Given the description of an element on the screen output the (x, y) to click on. 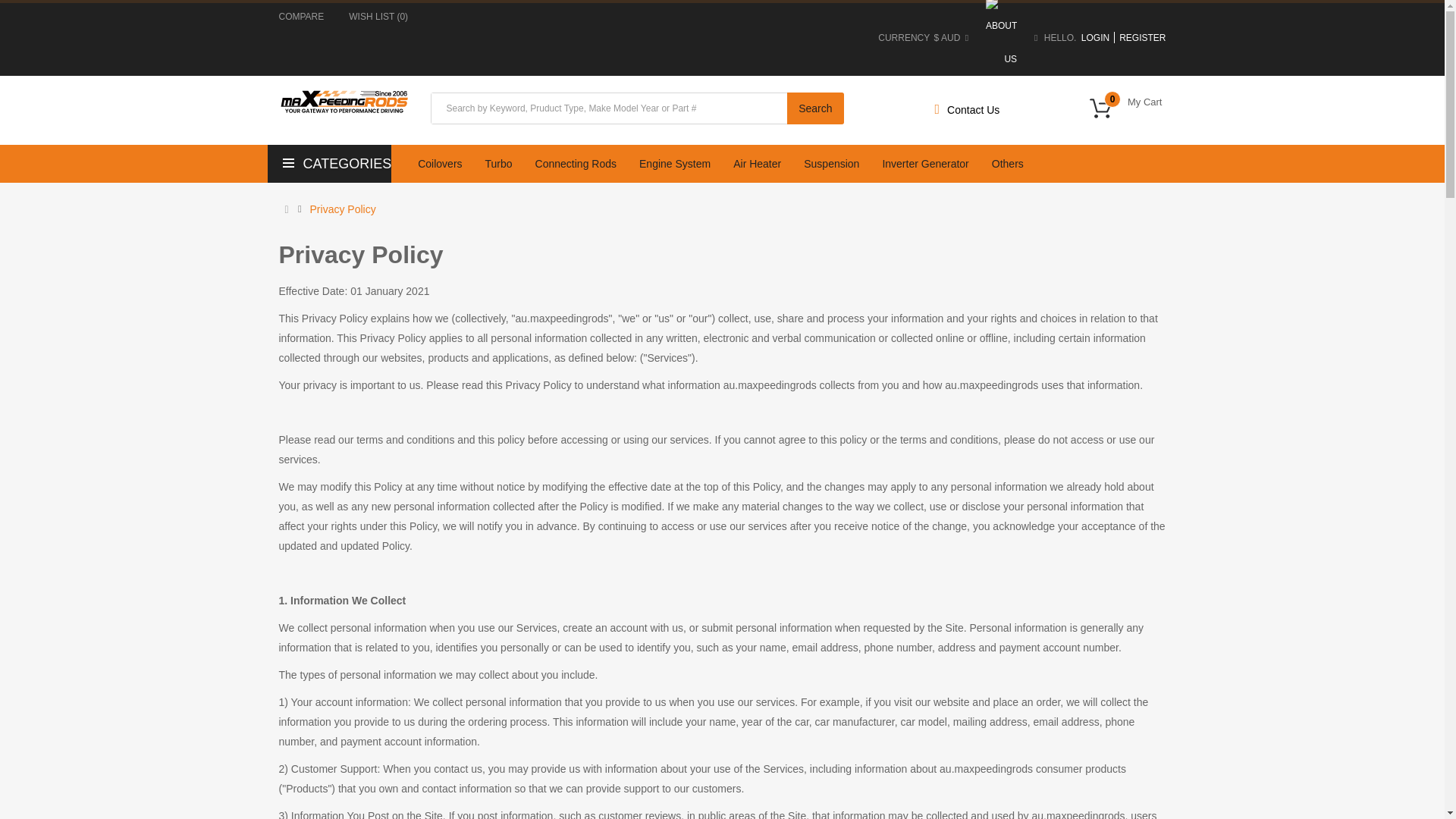
LOGIN (1093, 37)
ABOUT US (1000, 38)
REGISTER (1141, 37)
Search (815, 108)
MaXpeedingrods AU (1126, 107)
COMPARE (343, 101)
COMPARE (301, 16)
Contact Us (301, 16)
